Given the description of an element on the screen output the (x, y) to click on. 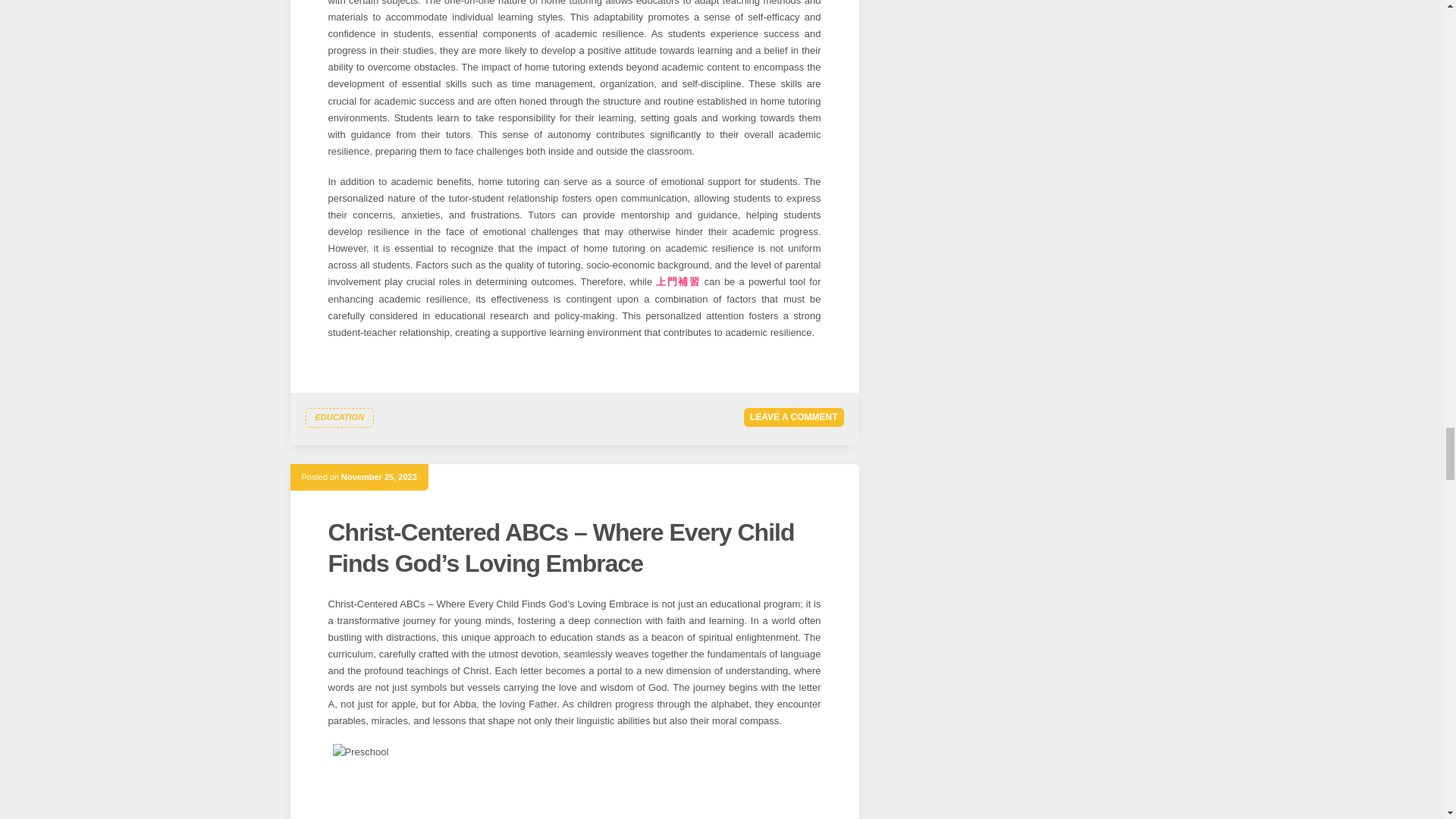
November 25, 2023 (378, 476)
EDUCATION (339, 417)
LEAVE A COMMENT (794, 416)
